Given the description of an element on the screen output the (x, y) to click on. 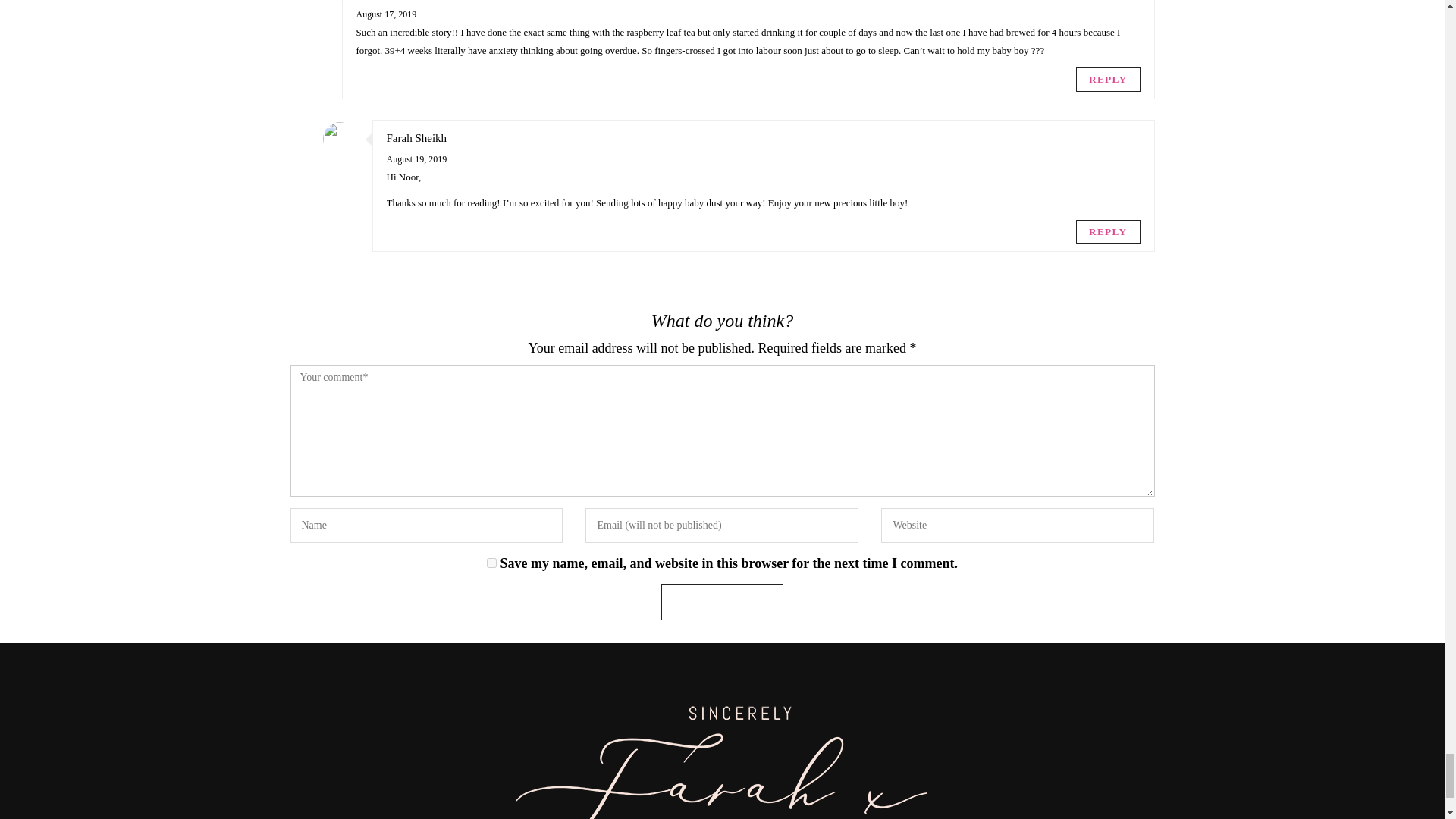
yes (491, 562)
Post comment (722, 601)
